Given the description of an element on the screen output the (x, y) to click on. 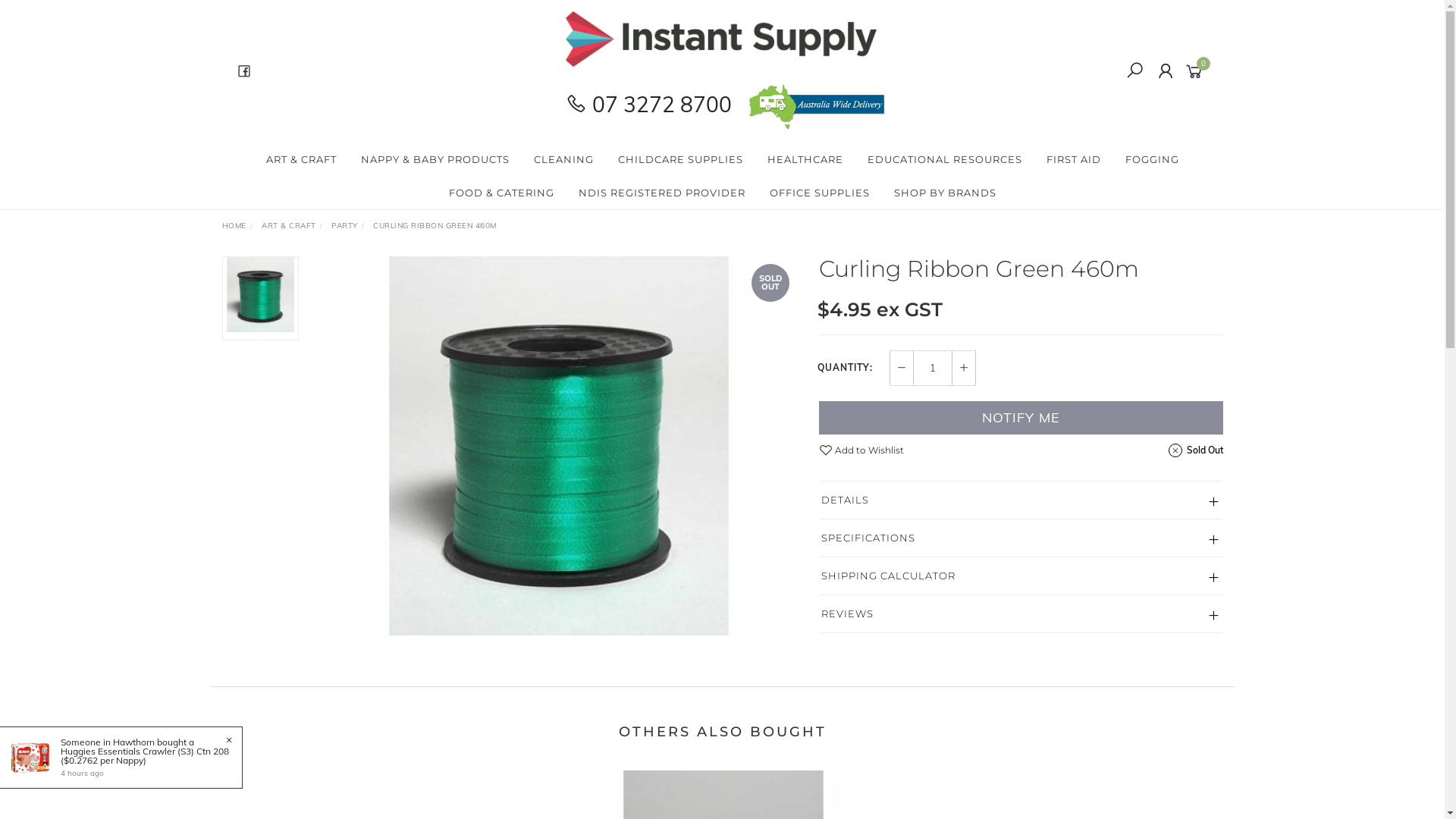
SPECIFICATIONS Element type: text (1021, 537)
0 Element type: text (1196, 69)
FOGGING Element type: text (1151, 158)
FOOD & CATERING Element type: text (501, 192)
DETAILS Element type: text (1021, 499)
FIRST AID Element type: text (1073, 158)
EDUCATIONAL RESOURCES Element type: text (944, 158)
NOTIFY ME Element type: text (1021, 417)
HOME Element type: text (233, 225)
OFFICE SUPPLIES Element type: text (818, 192)
Large View Element type: hover (558, 445)
PARTY Element type: text (344, 225)
Instant Supply Element type: hover (720, 37)
Add to Wishlist Element type: text (861, 449)
NAPPY & BABY PRODUCTS Element type: text (435, 158)
Huggies Essentials Crawler (S3) Ctn 208 ($0.2762 per Nappy) Element type: text (144, 754)
NDIS REGISTERED PROVIDER Element type: text (661, 192)
CURLING RIBBON GREEN 460M Element type: text (434, 225)
HEALTHCARE Element type: text (804, 158)
SHIPPING CALCULATOR Element type: text (1021, 575)
CHILDCARE SUPPLIES Element type: text (679, 158)
CLEANING Element type: text (563, 158)
REVIEWS Element type: text (1021, 613)
ART & CRAFT Element type: text (288, 225)
SHOP BY BRANDS Element type: text (944, 192)
ART & CRAFT Element type: text (300, 158)
